Given the description of an element on the screen output the (x, y) to click on. 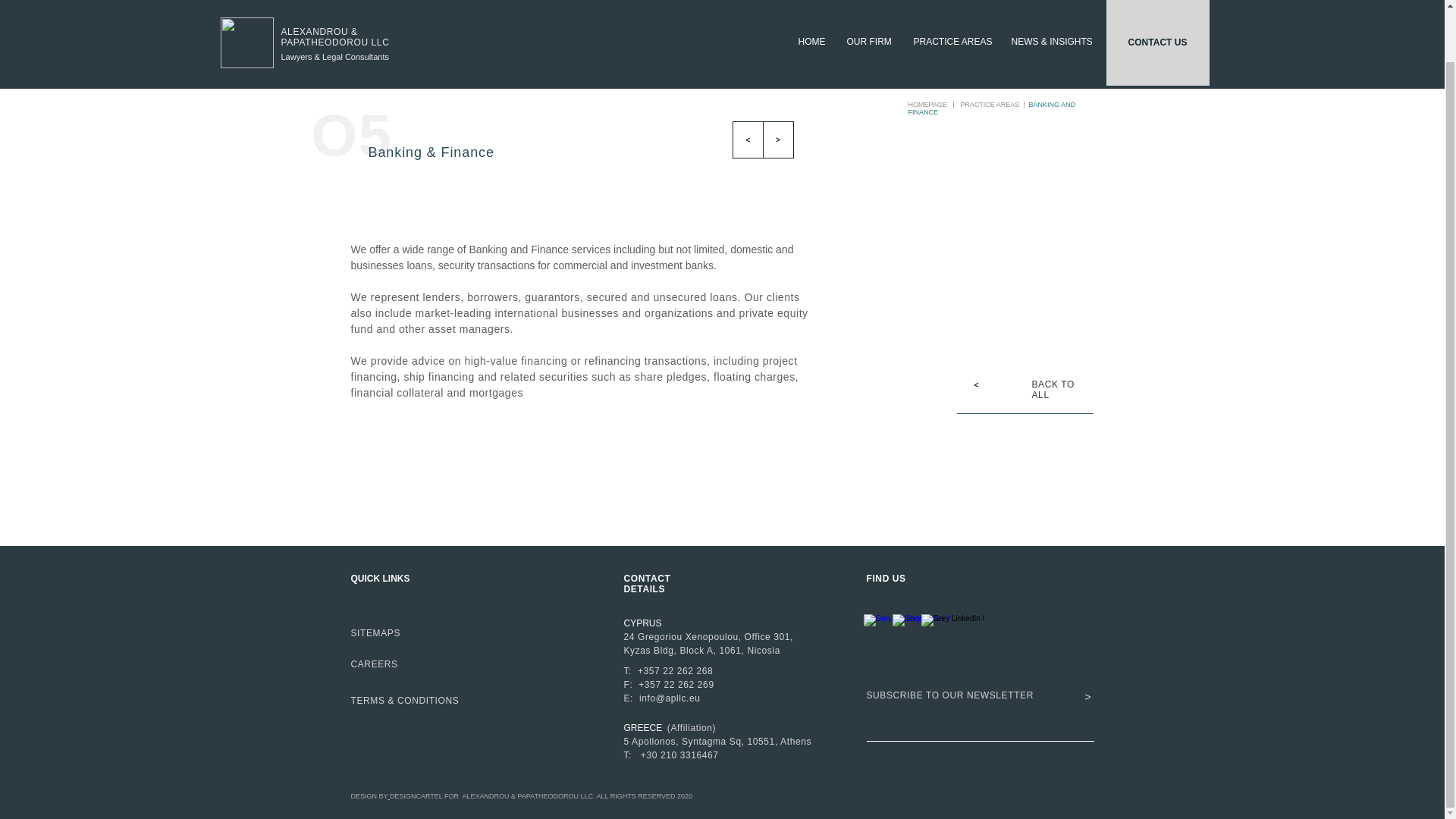
O5 (351, 134)
DESIGNCARTEL (416, 796)
CONTACT US (1156, 14)
QUICK LINKS (379, 578)
06 (454, 82)
CAREERS (373, 664)
FIND US (885, 578)
CONTACT  DETAILS (647, 583)
